Given the description of an element on the screen output the (x, y) to click on. 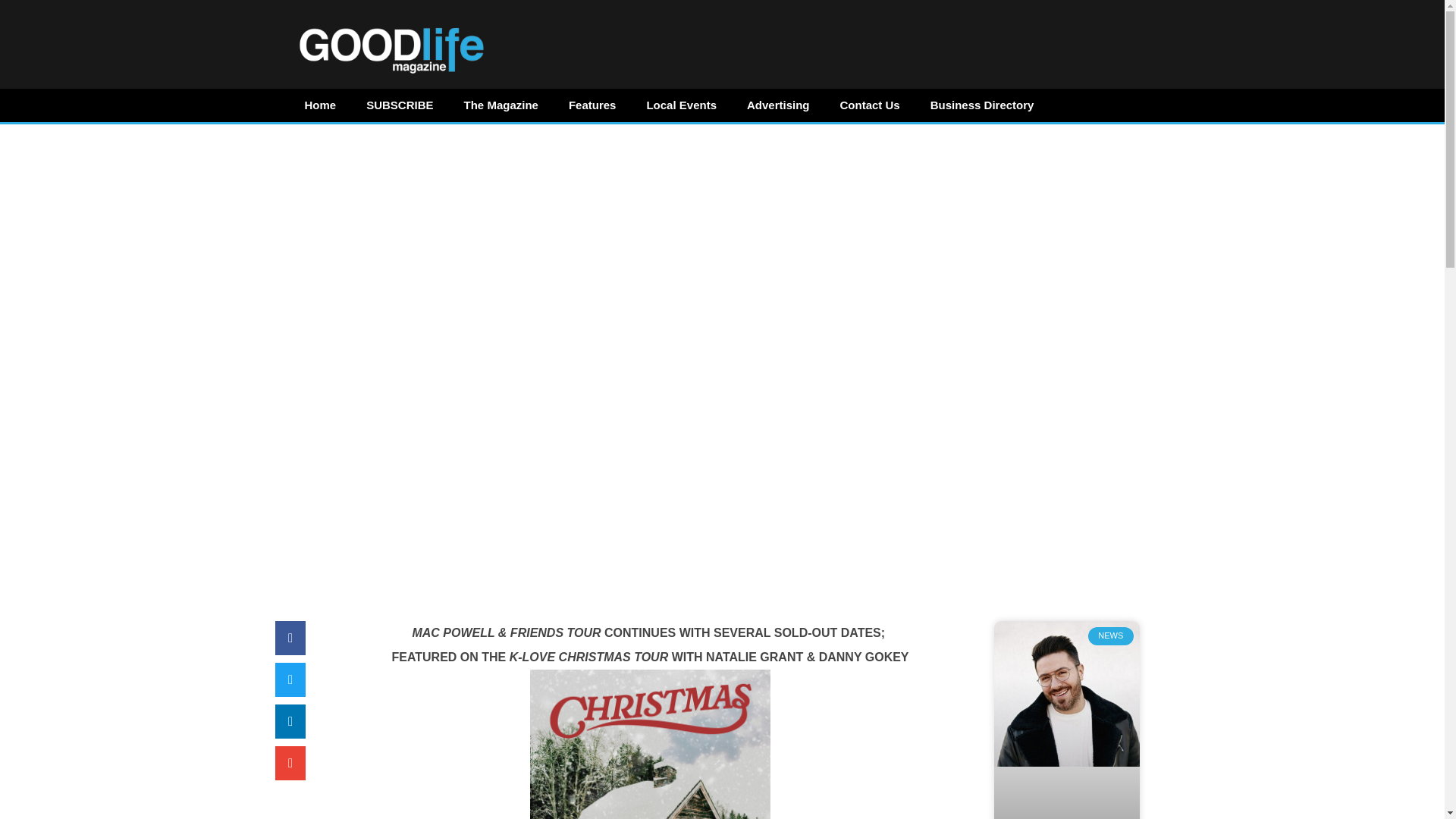
Home (320, 104)
The Magazine (500, 104)
Business Directory (982, 104)
Features (592, 104)
Local Events (681, 104)
Contact Us (870, 104)
Advertising (778, 104)
SUBSCRIBE (399, 104)
